Given the description of an element on the screen output the (x, y) to click on. 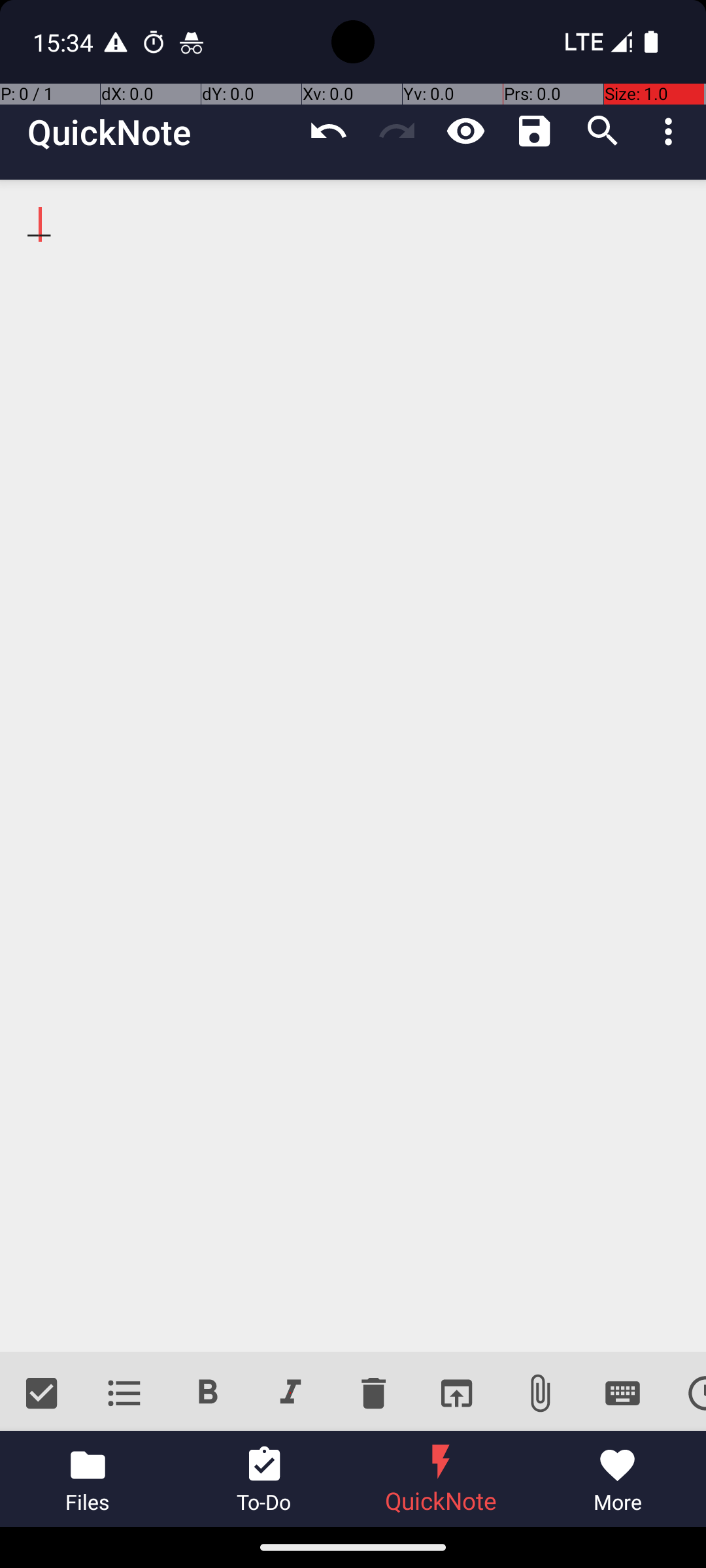
__ Element type: android.widget.EditText (353, 765)
Chrome notification: Incognito Tabs Element type: android.widget.ImageView (191, 41)
